Given the description of an element on the screen output the (x, y) to click on. 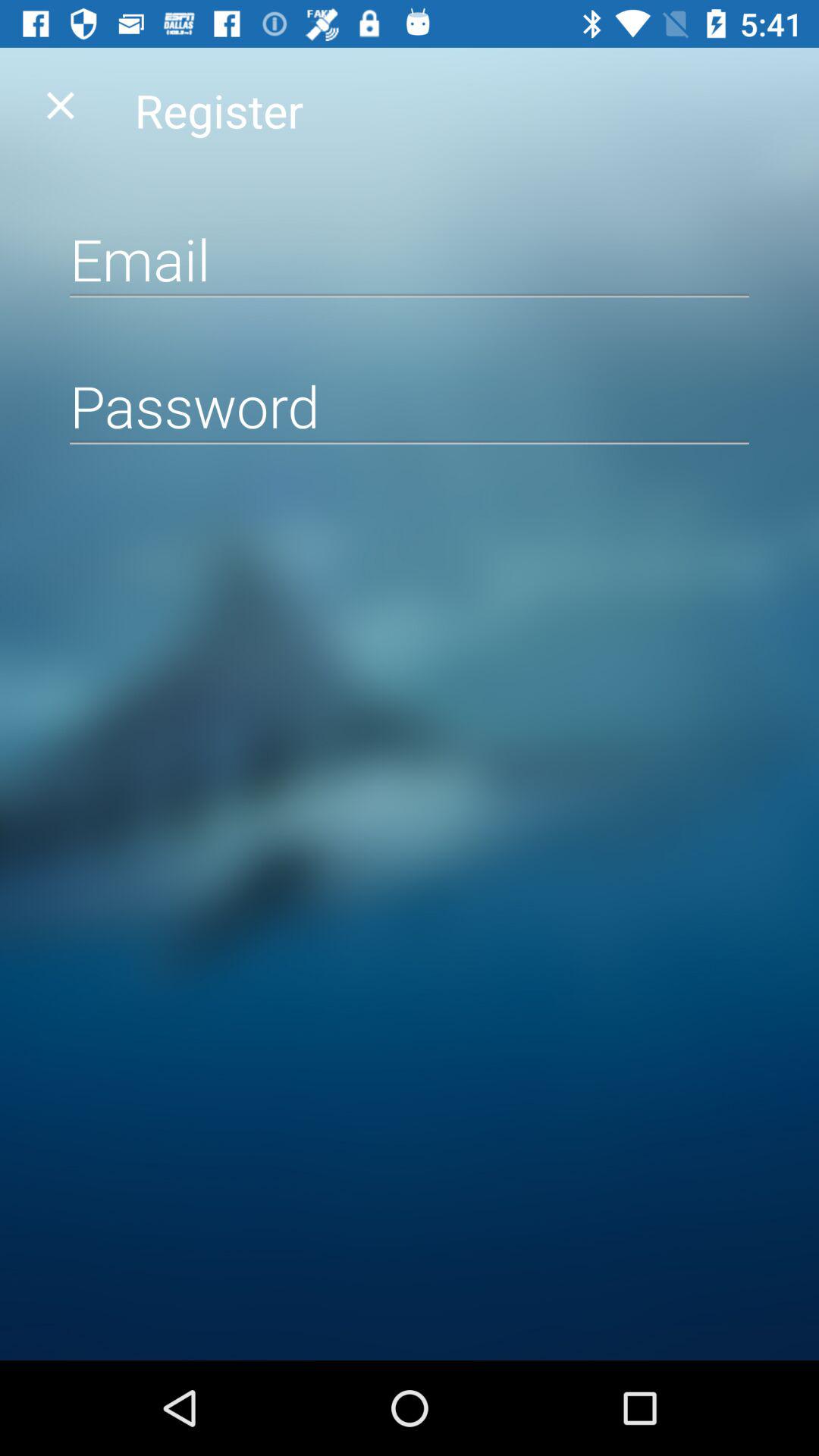
enter password (409, 405)
